Given the description of an element on the screen output the (x, y) to click on. 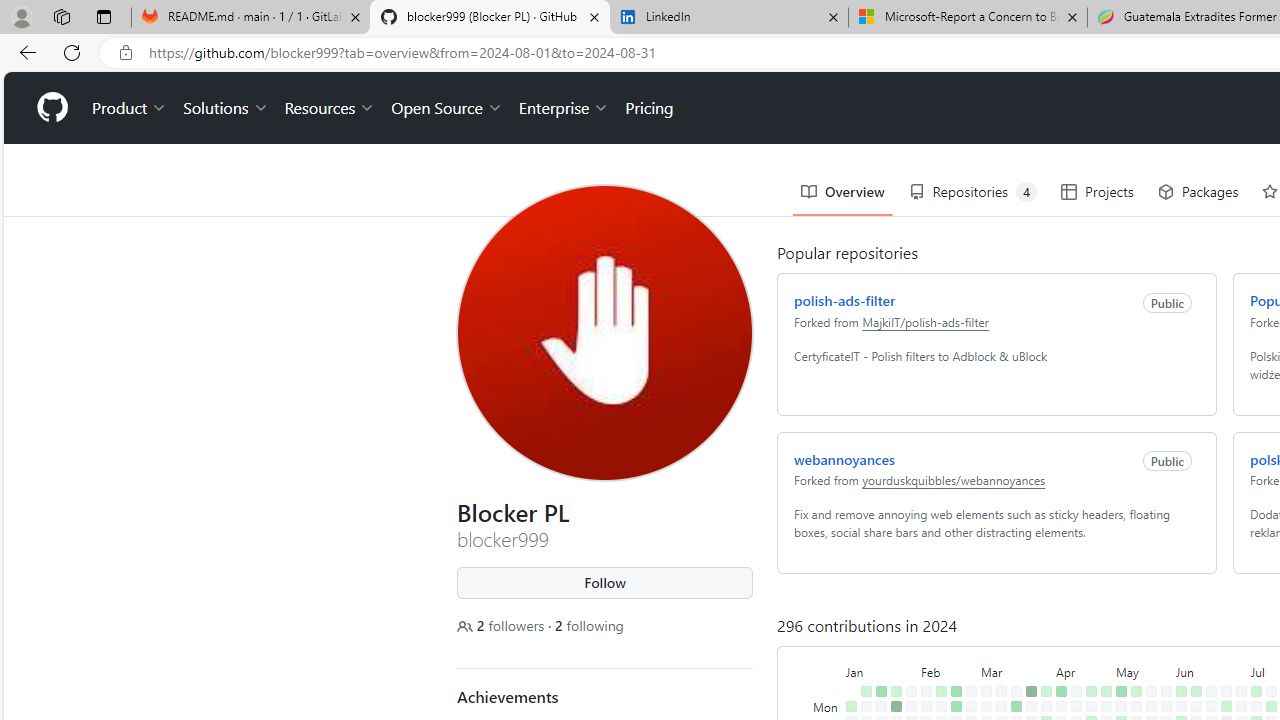
4 contributions on January 14th. (881, 691)
No contributions on May 13th. (1136, 706)
January (881, 670)
webannoyances (843, 458)
March (1016, 670)
5 contributions on April 7th. (1061, 691)
No contributions on June 16th. (1211, 691)
Sunday (827, 691)
2 contributions on June 2nd. (1181, 691)
February (948, 670)
10 contributions on March 24th. (1031, 691)
